Given the description of an element on the screen output the (x, y) to click on. 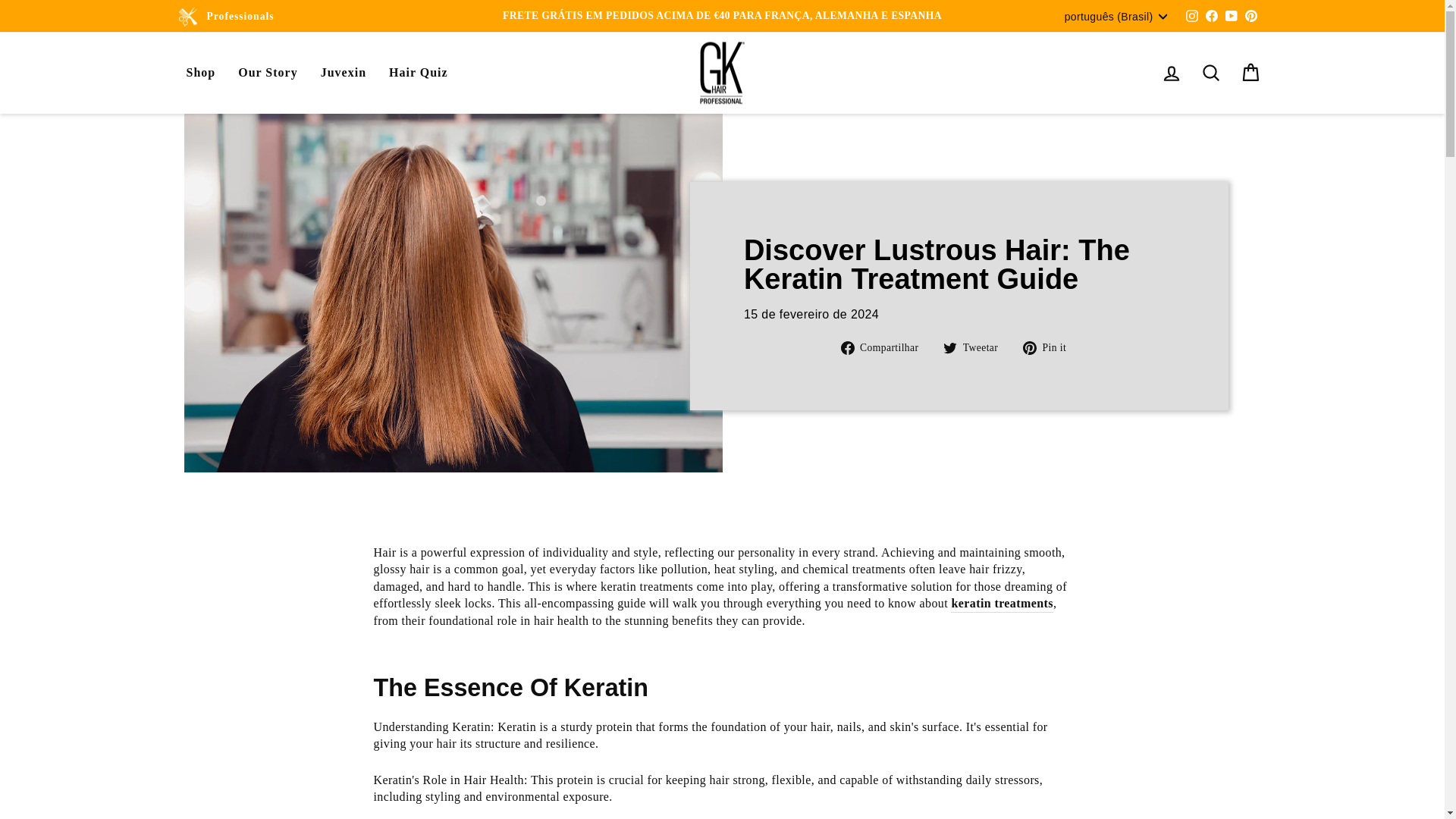
Professionals (239, 16)
Adicione no Pinterest (1050, 346)
Compartilhe no Facebook (885, 346)
Shop (200, 73)
Tuite no Twitter (976, 346)
